Given the description of an element on the screen output the (x, y) to click on. 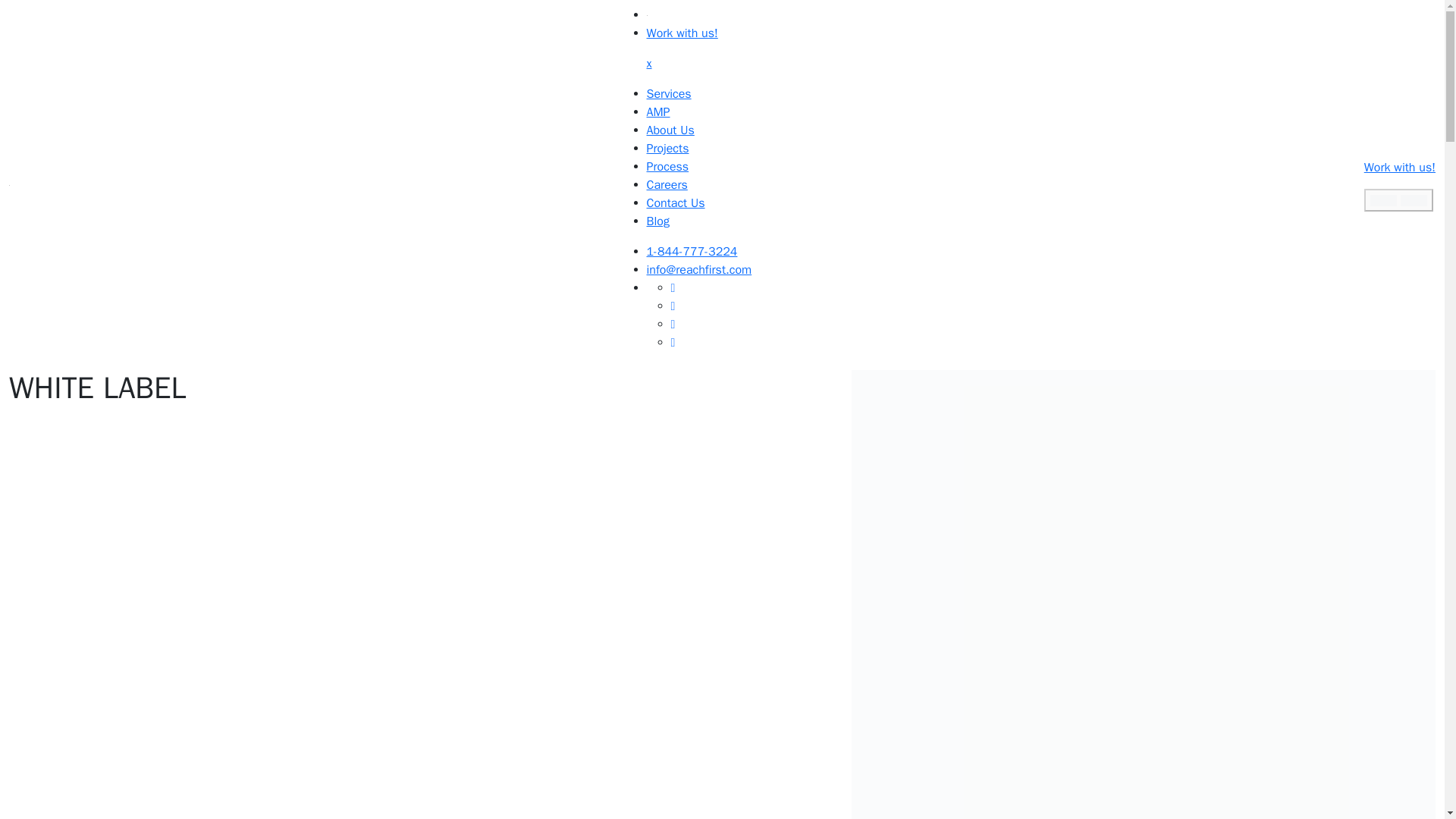
Work with us! (681, 32)
Projects (667, 148)
AMP (657, 111)
About Us (670, 130)
Services (668, 93)
Contact Us (675, 202)
1-844-777-3224 (692, 251)
Blog (657, 221)
Careers (666, 184)
Process (667, 166)
